Given the description of an element on the screen output the (x, y) to click on. 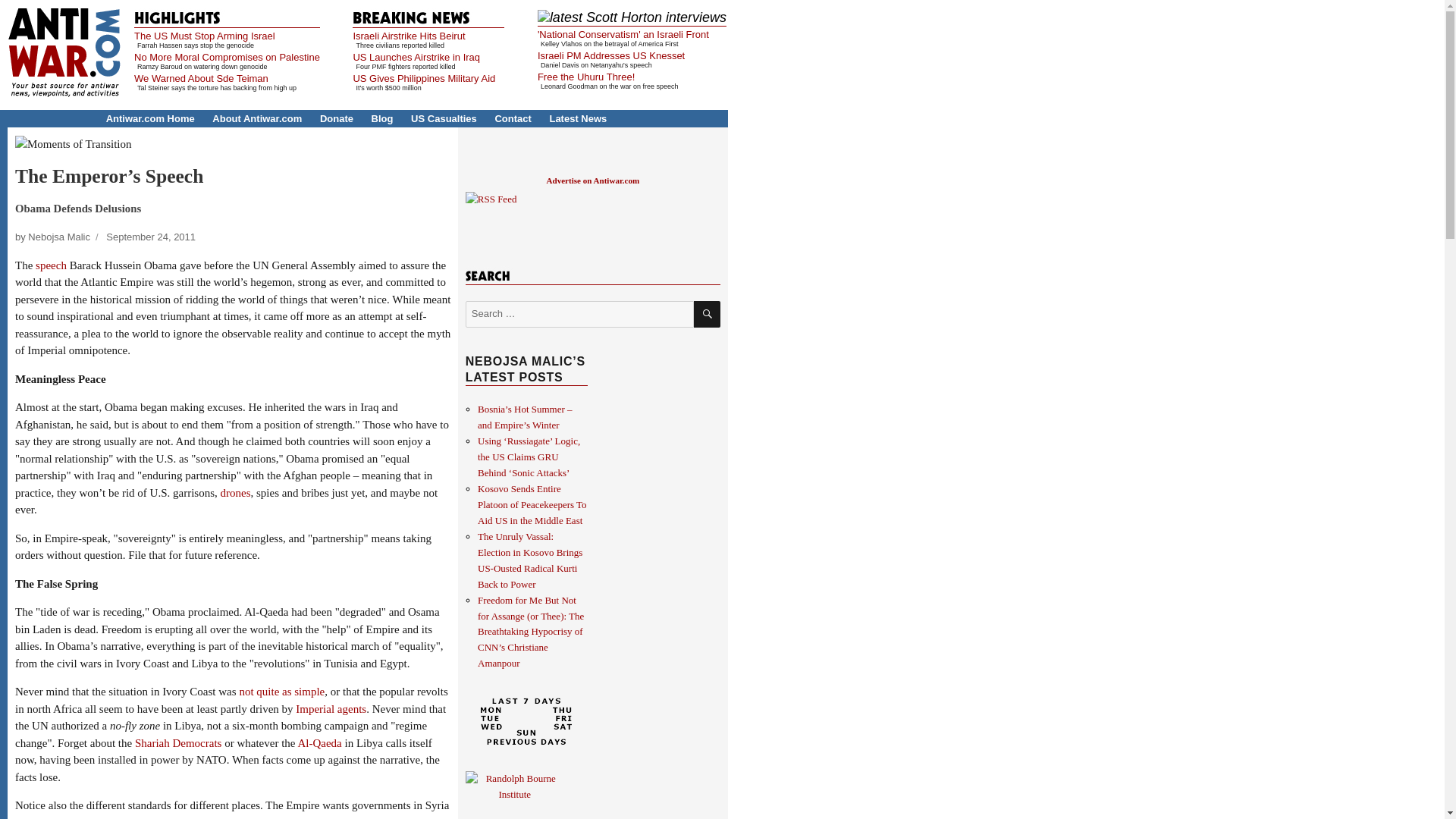
Israeli PM Addresses US Knesset (610, 55)
Latest News (577, 118)
September 24, 2011 (150, 236)
Moments of Transition (73, 144)
Israeli Airstrike Hits Beirut (408, 35)
About Antiwar.com (256, 118)
US Launches Airstrike in Iraq (416, 57)
Shariah Democrats (178, 743)
Imperial agents (330, 708)
Nebojsa Malic (58, 236)
drones (234, 492)
US Gives Philippines Military Aid (423, 78)
not quite as simple (281, 691)
Antiwar.com Home (150, 118)
The US Must Stop Arming Israel (204, 35)
